Given the description of an element on the screen output the (x, y) to click on. 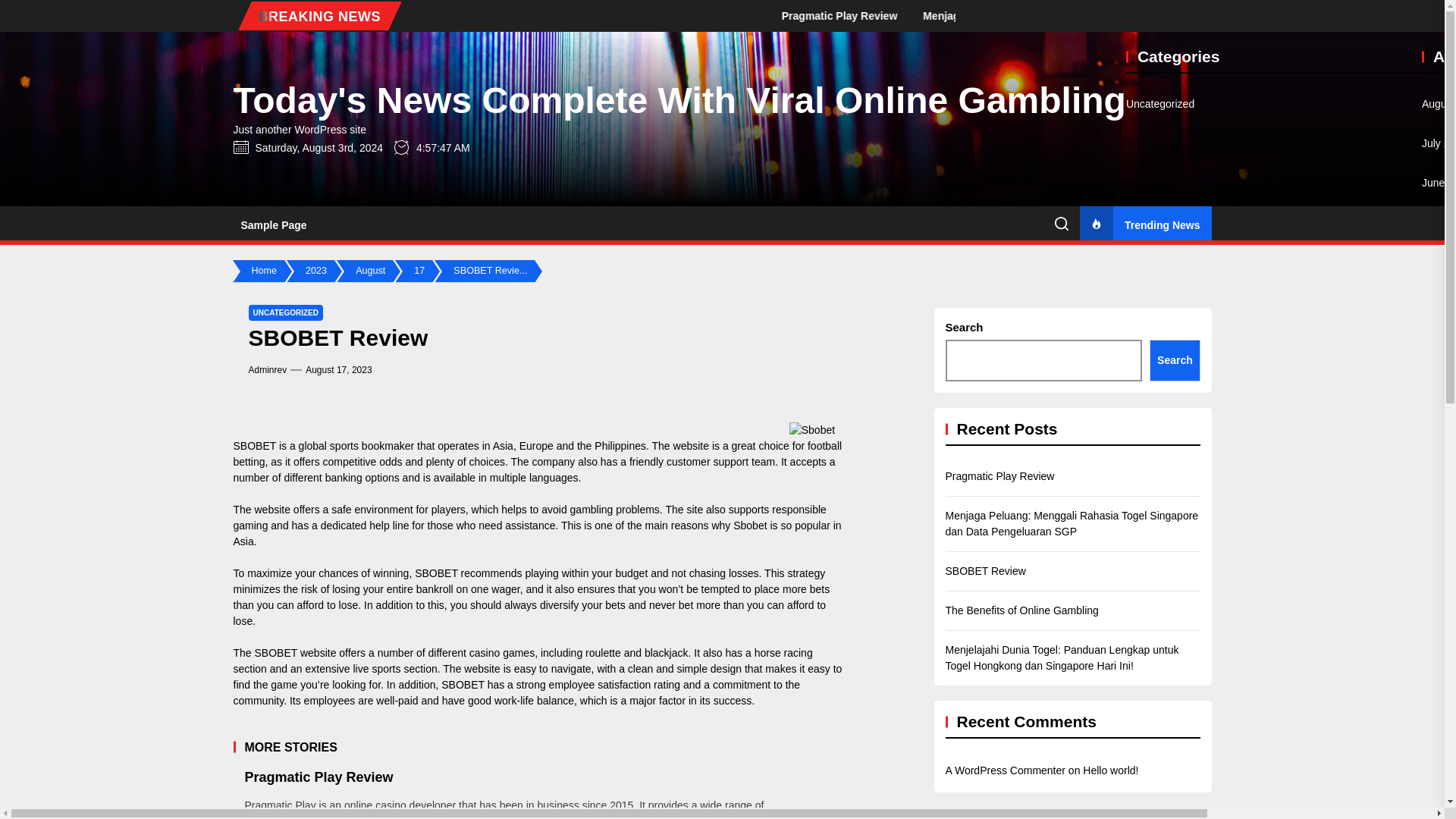
December 2023 (1439, 419)
Pragmatic Play Review (971, 15)
June 2024 (1439, 182)
Sample Page (273, 224)
August 2024 (1439, 104)
November 2023 (1439, 458)
October 2023 (1439, 498)
February 2023 (1439, 812)
May 2024 (1439, 222)
Today's News Complete With Viral Online Gambling (678, 100)
July 2024 (1439, 143)
May 2023 (1439, 695)
March 2023 (1439, 774)
April 2024 (1439, 261)
July 2023 (1439, 616)
